Given the description of an element on the screen output the (x, y) to click on. 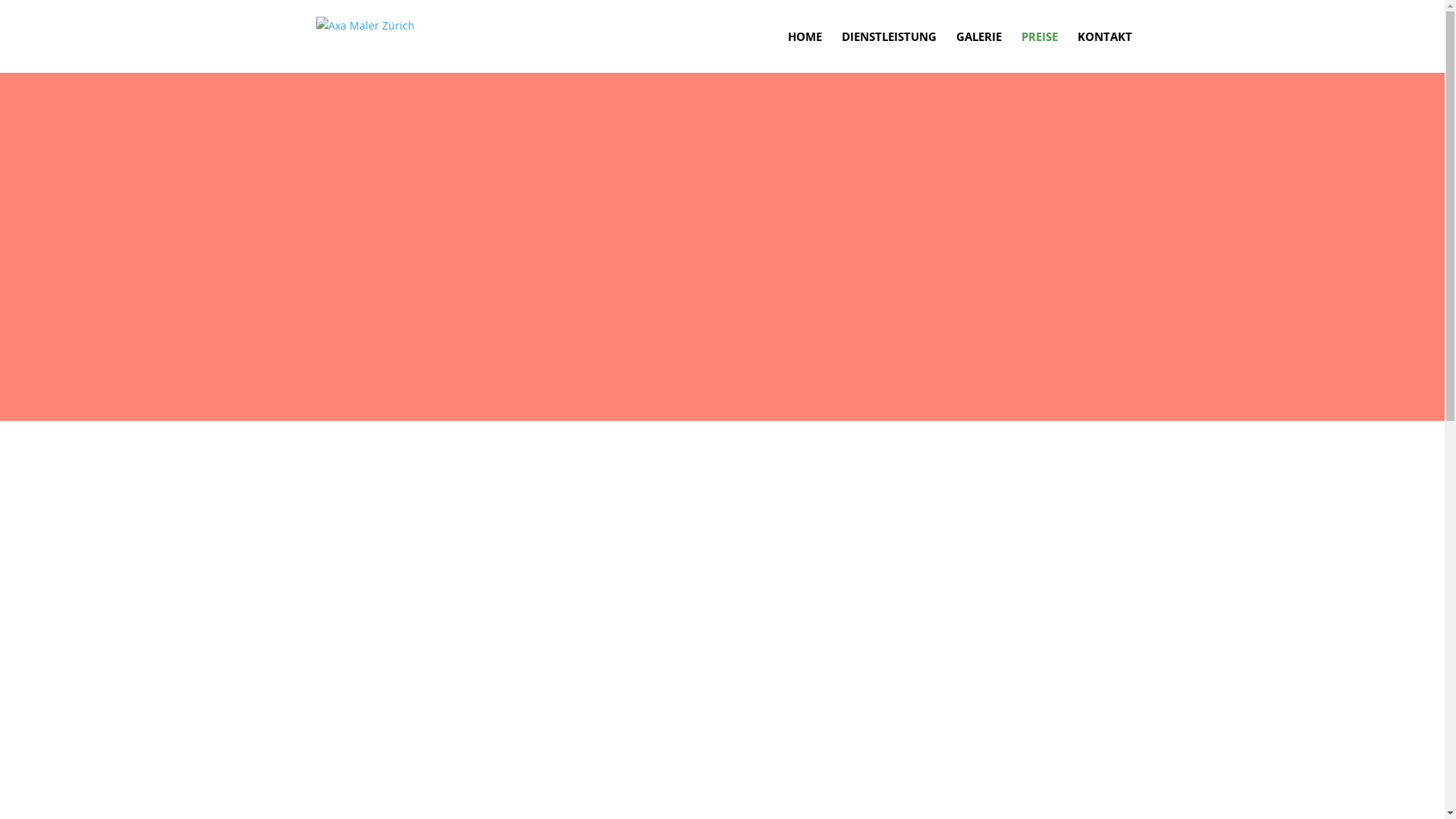
KONTAKT Element type: text (1103, 51)
GALERIE Element type: text (978, 51)
HOME Element type: text (804, 51)
PREISE Element type: text (1038, 51)
DIENSTLEISTUNG Element type: text (888, 51)
